Given the description of an element on the screen output the (x, y) to click on. 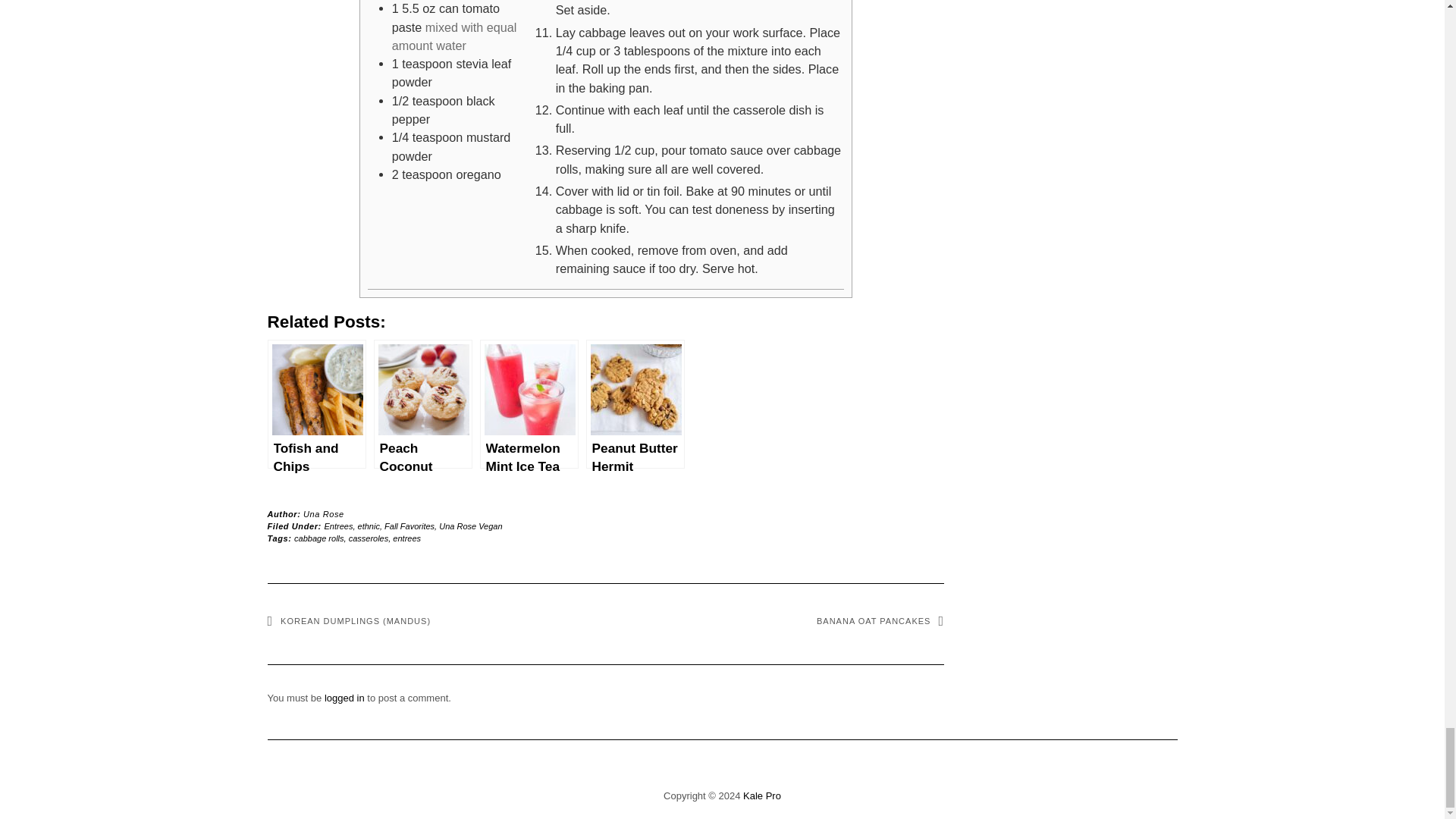
Fall Favorites (408, 525)
BANANA OAT PANCAKES (879, 620)
Una Rose Vegan (470, 525)
casseroles (368, 537)
logged in (344, 697)
entrees (406, 537)
Posts by Una Rose (322, 513)
cabbage rolls (318, 537)
ethnic (369, 525)
Una Rose (322, 513)
Entrees (338, 525)
